Given the description of an element on the screen output the (x, y) to click on. 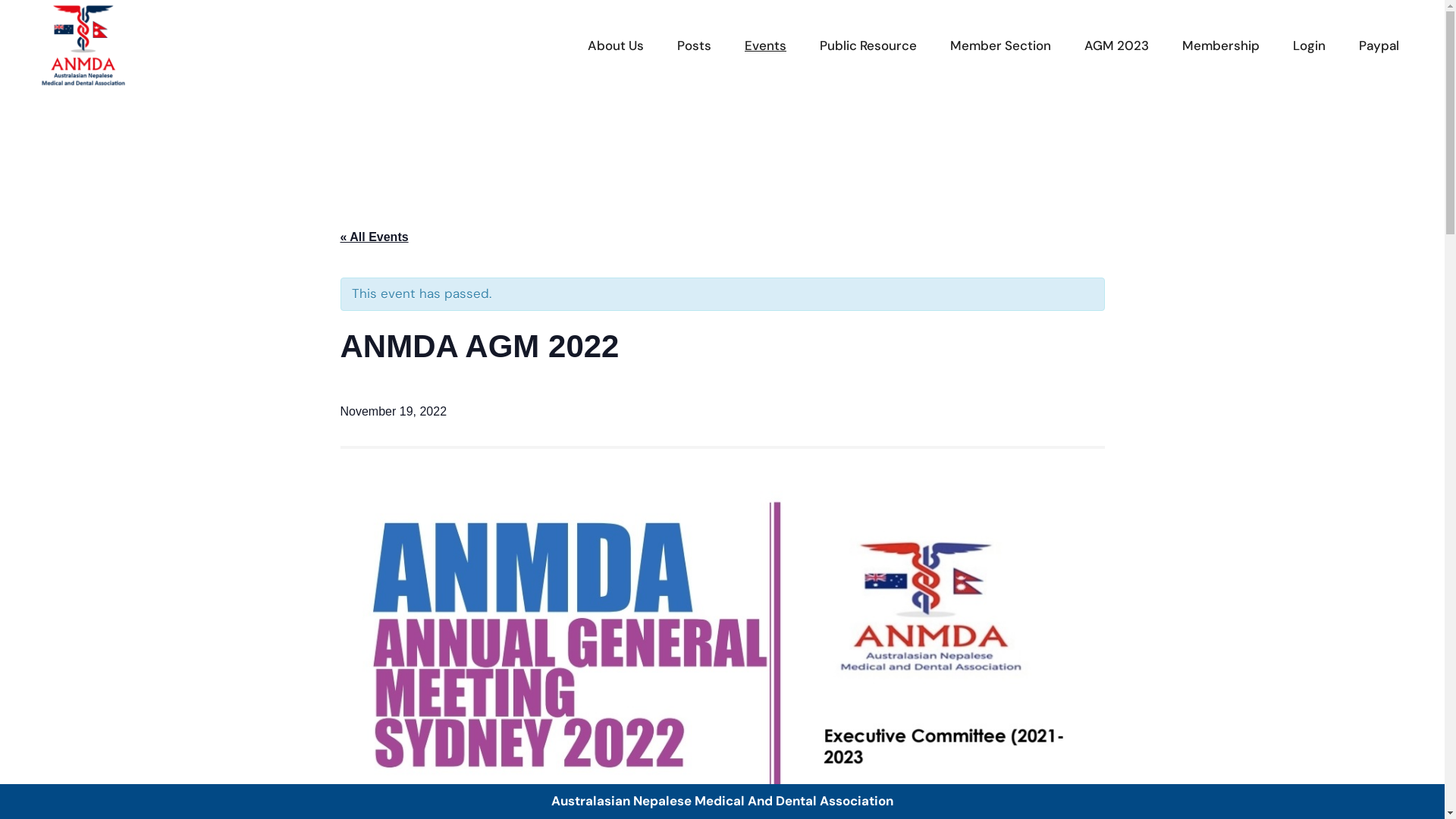
About Us Element type: text (615, 45)
Public Resource Element type: text (868, 45)
Posts Element type: text (693, 45)
Login Element type: text (1309, 45)
Paypal Element type: text (1378, 45)
Member Section Element type: text (1000, 45)
Membership Element type: text (1220, 45)
AGM 2023 Element type: text (1116, 45)
Events Element type: text (765, 45)
